Given the description of an element on the screen output the (x, y) to click on. 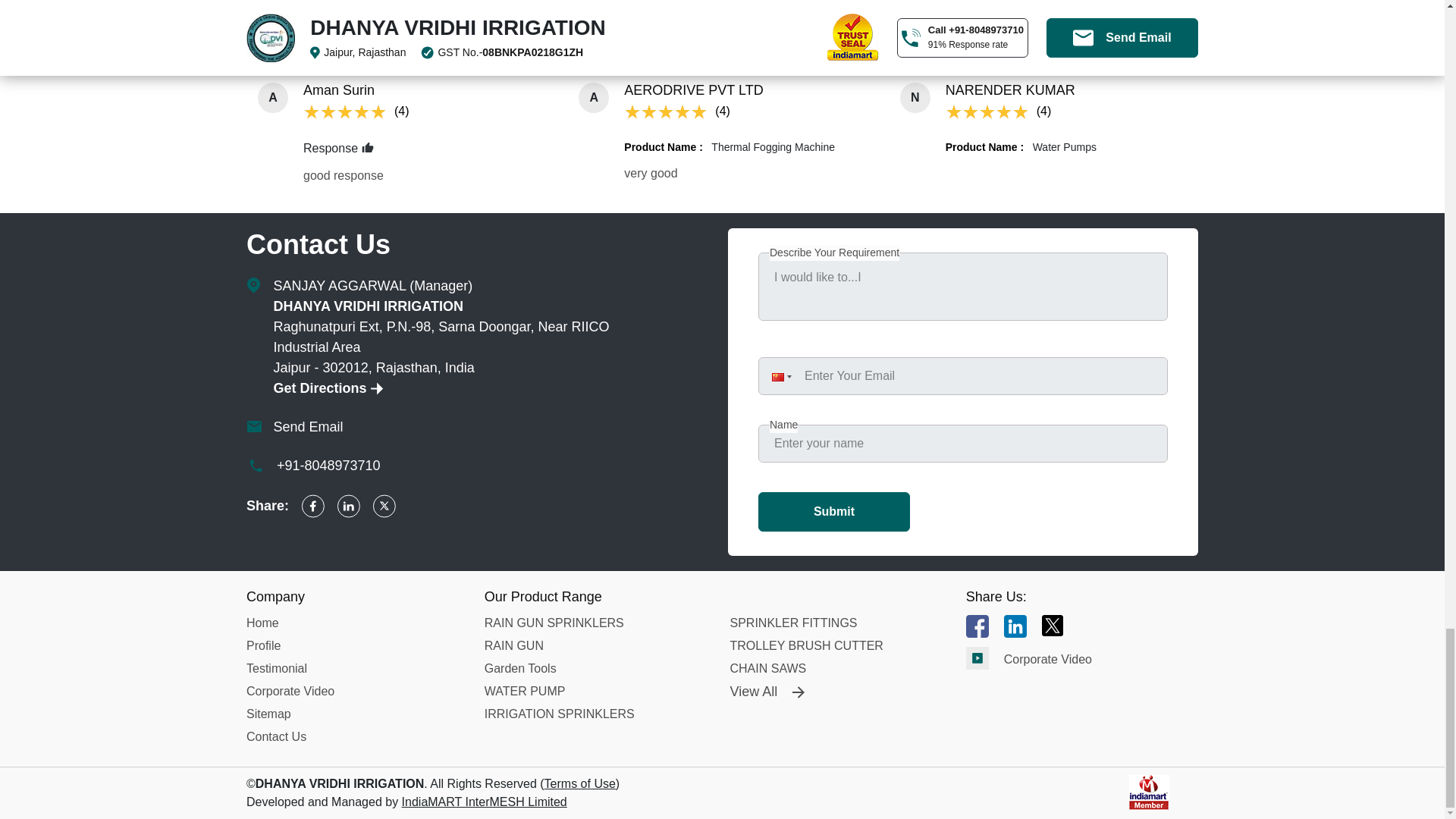
Submit (834, 511)
